Given the description of an element on the screen output the (x, y) to click on. 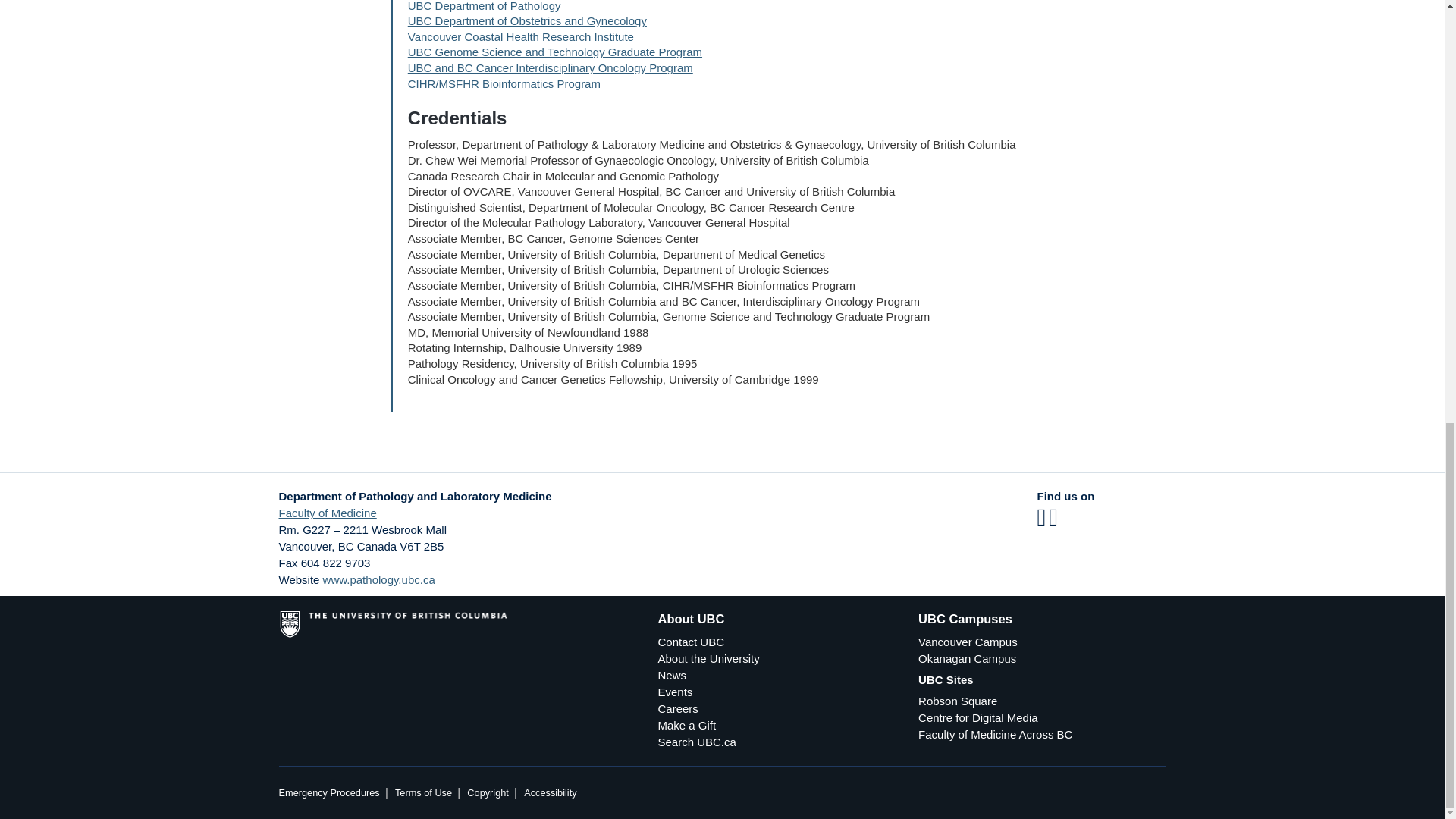
Emergency Procedures (329, 792)
Accessibility (550, 792)
Terms of Use (422, 792)
UBC Copyright (487, 792)
